Given the description of an element on the screen output the (x, y) to click on. 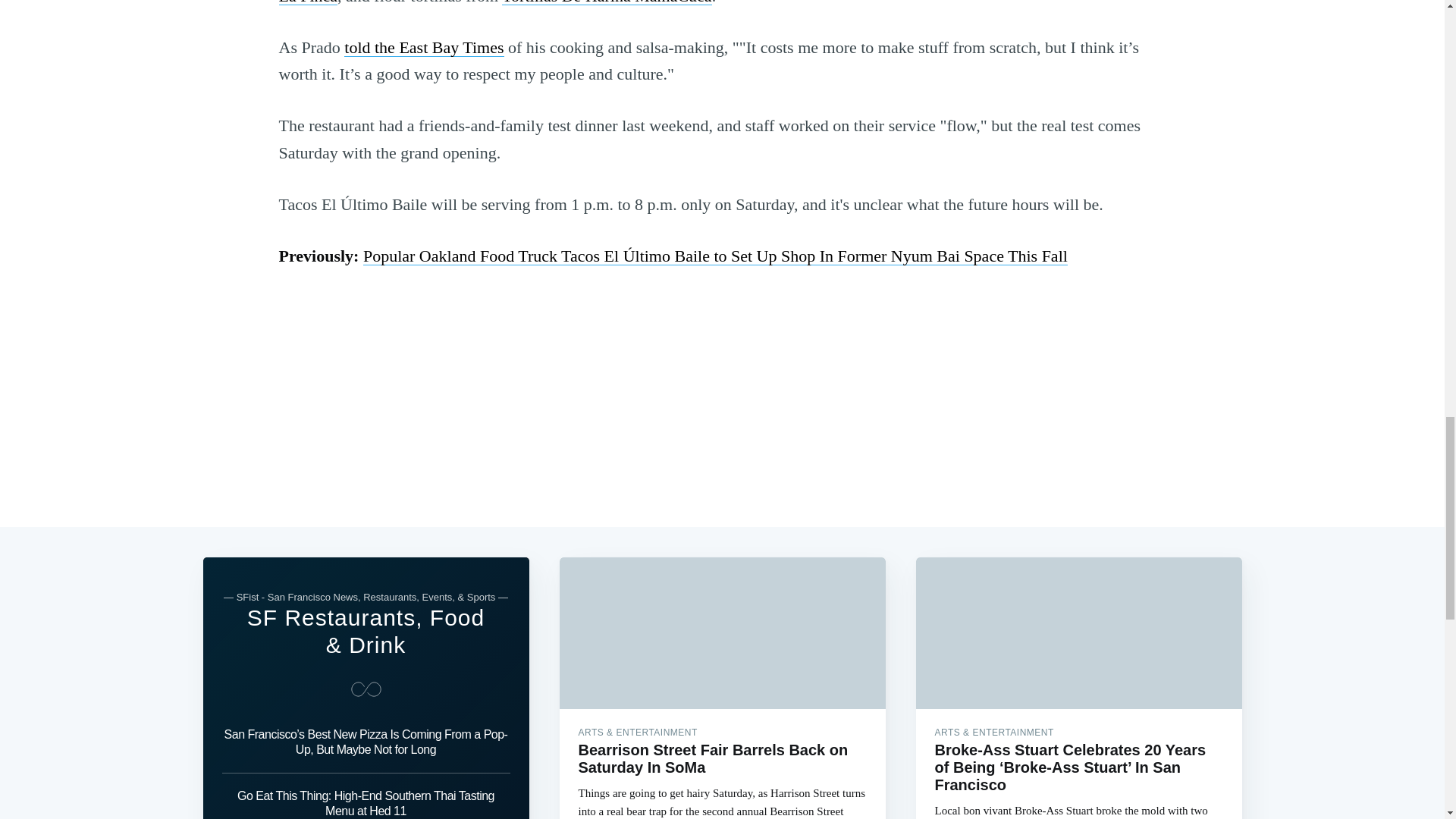
told the East Bay Times (423, 46)
Tortillas De Harina MamaCuca (606, 2)
La Finca (308, 2)
